Given the description of an element on the screen output the (x, y) to click on. 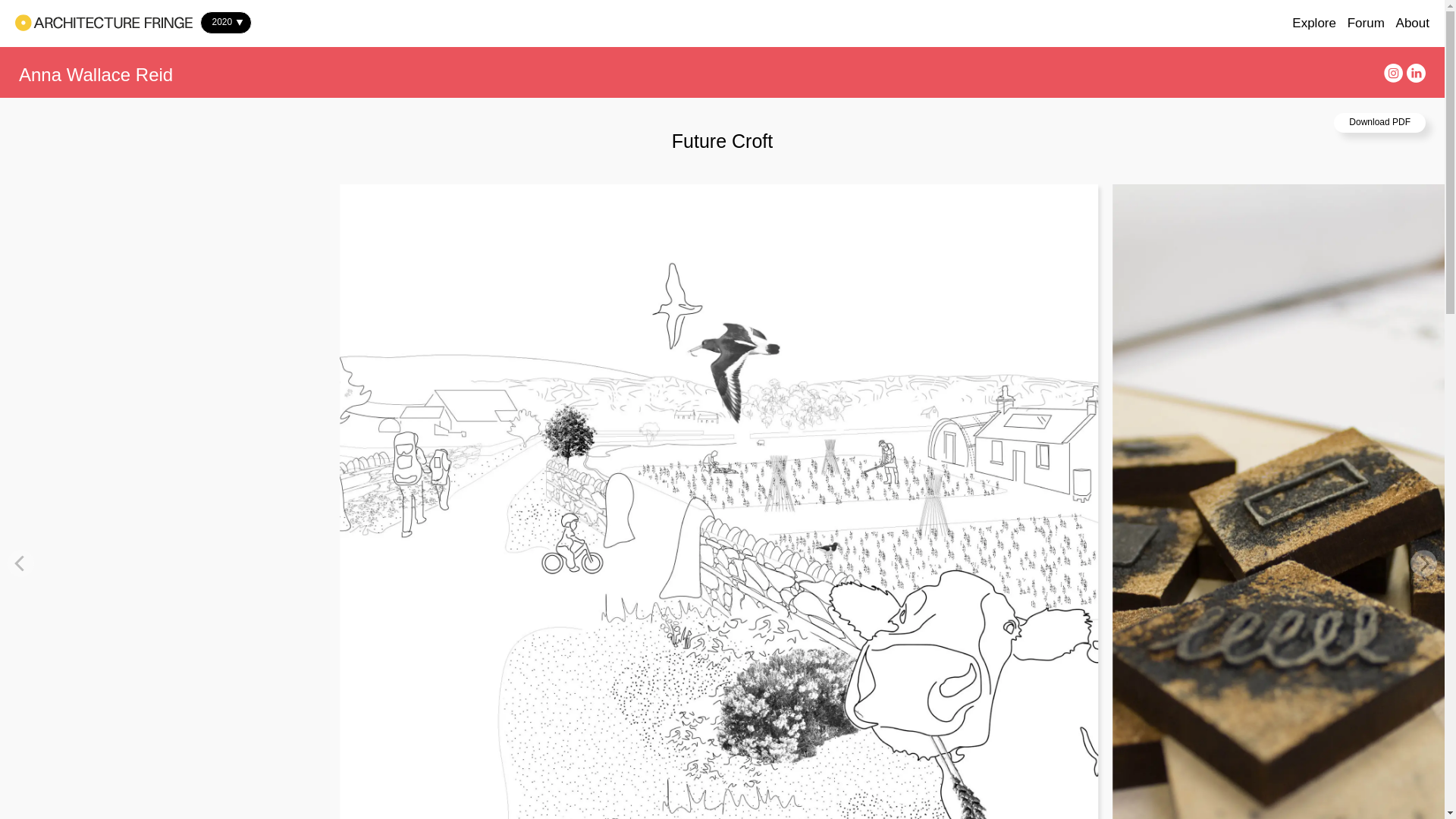
logotype Created with Sketch. (103, 23)
logotype Created with Sketch. (103, 22)
Explore (1314, 22)
Download PDF (1379, 122)
About (1412, 22)
Forum (1366, 22)
